Given the description of an element on the screen output the (x, y) to click on. 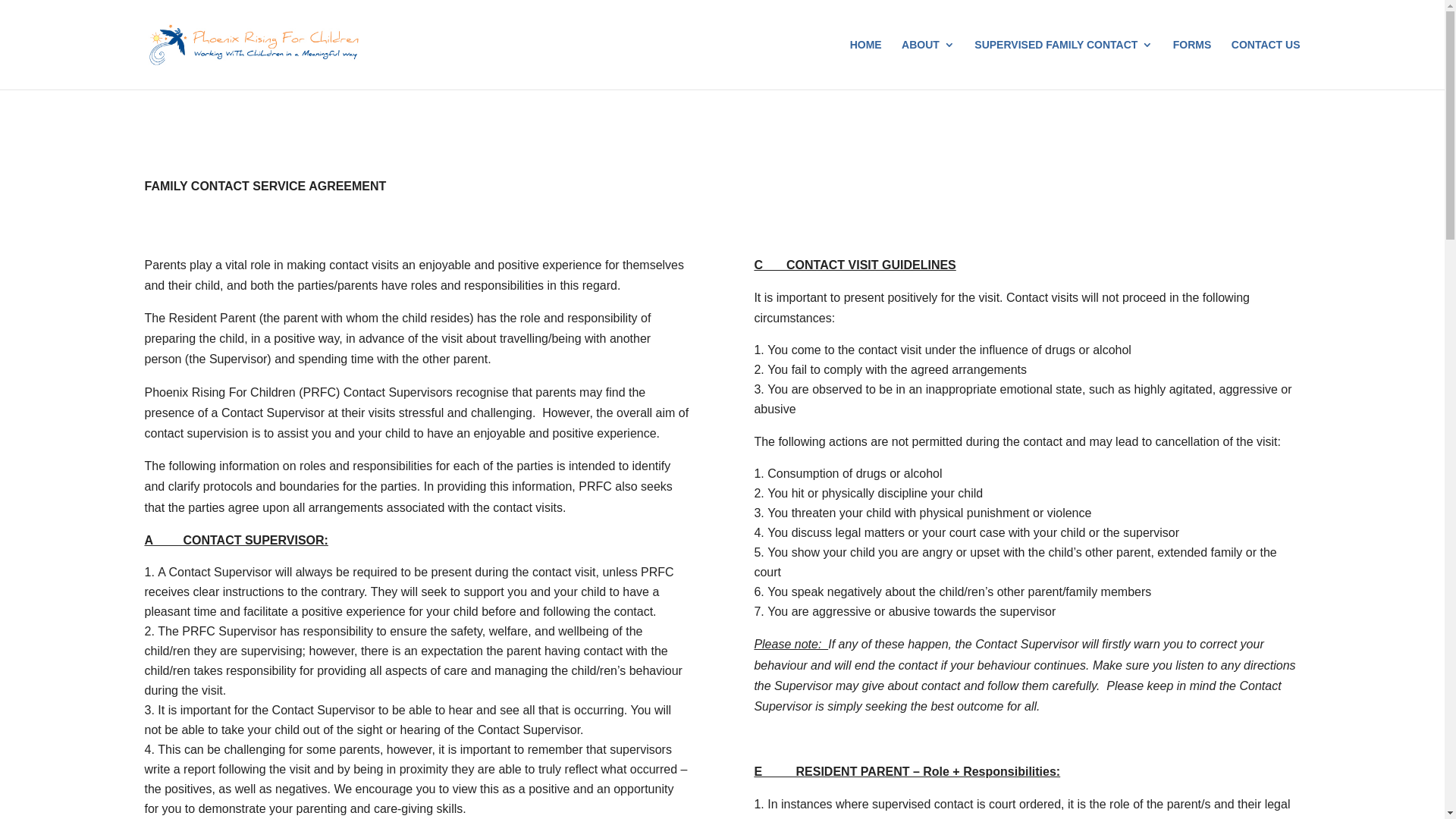
ABOUT Element type: text (927, 64)
SUPERVISED FAMILY CONTACT Element type: text (1063, 64)
CONTACT US Element type: text (1265, 64)
FORMS Element type: text (1192, 64)
HOME Element type: text (865, 64)
